Given the description of an element on the screen output the (x, y) to click on. 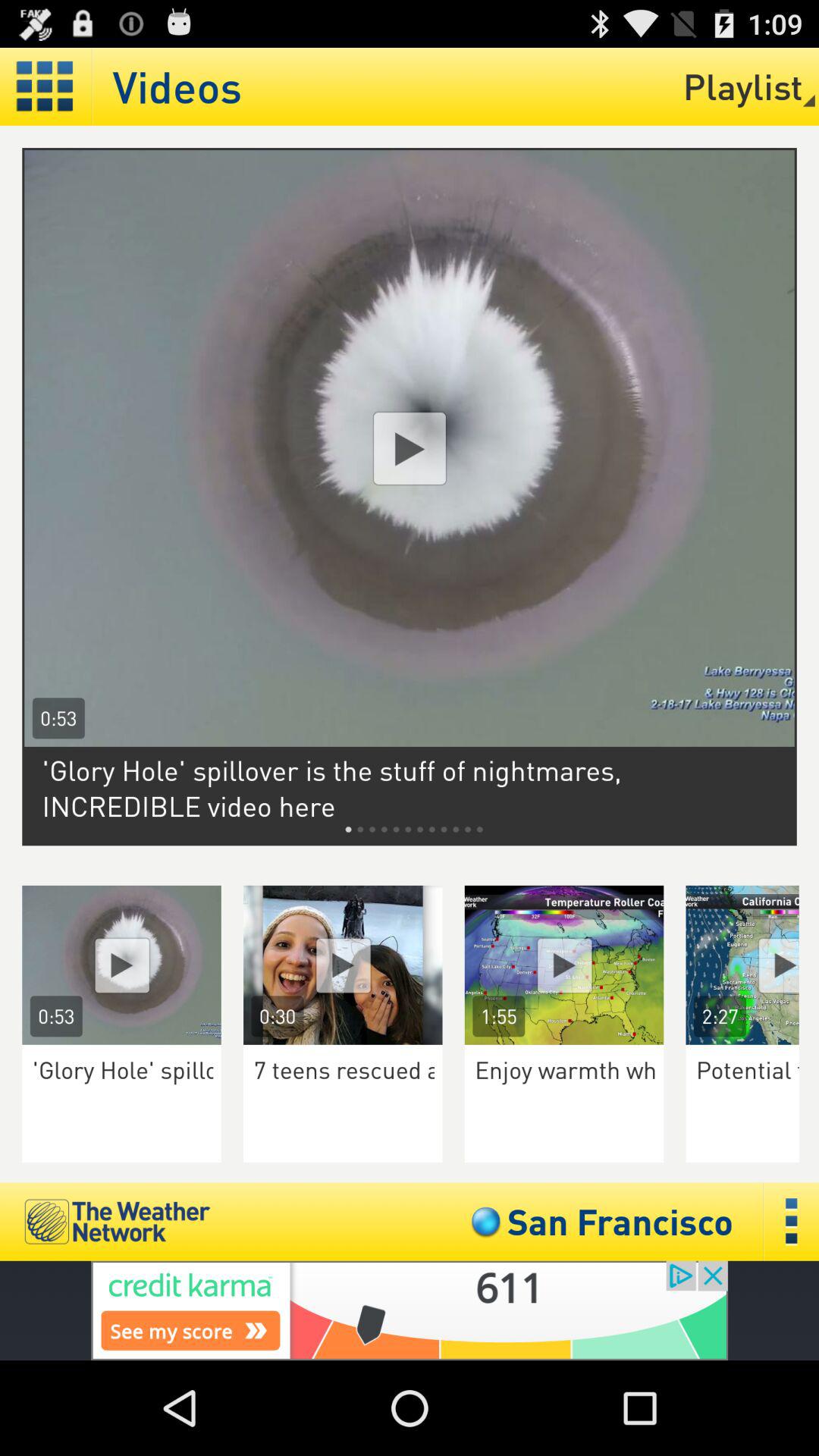
play button (752, 964)
